Given the description of an element on the screen output the (x, y) to click on. 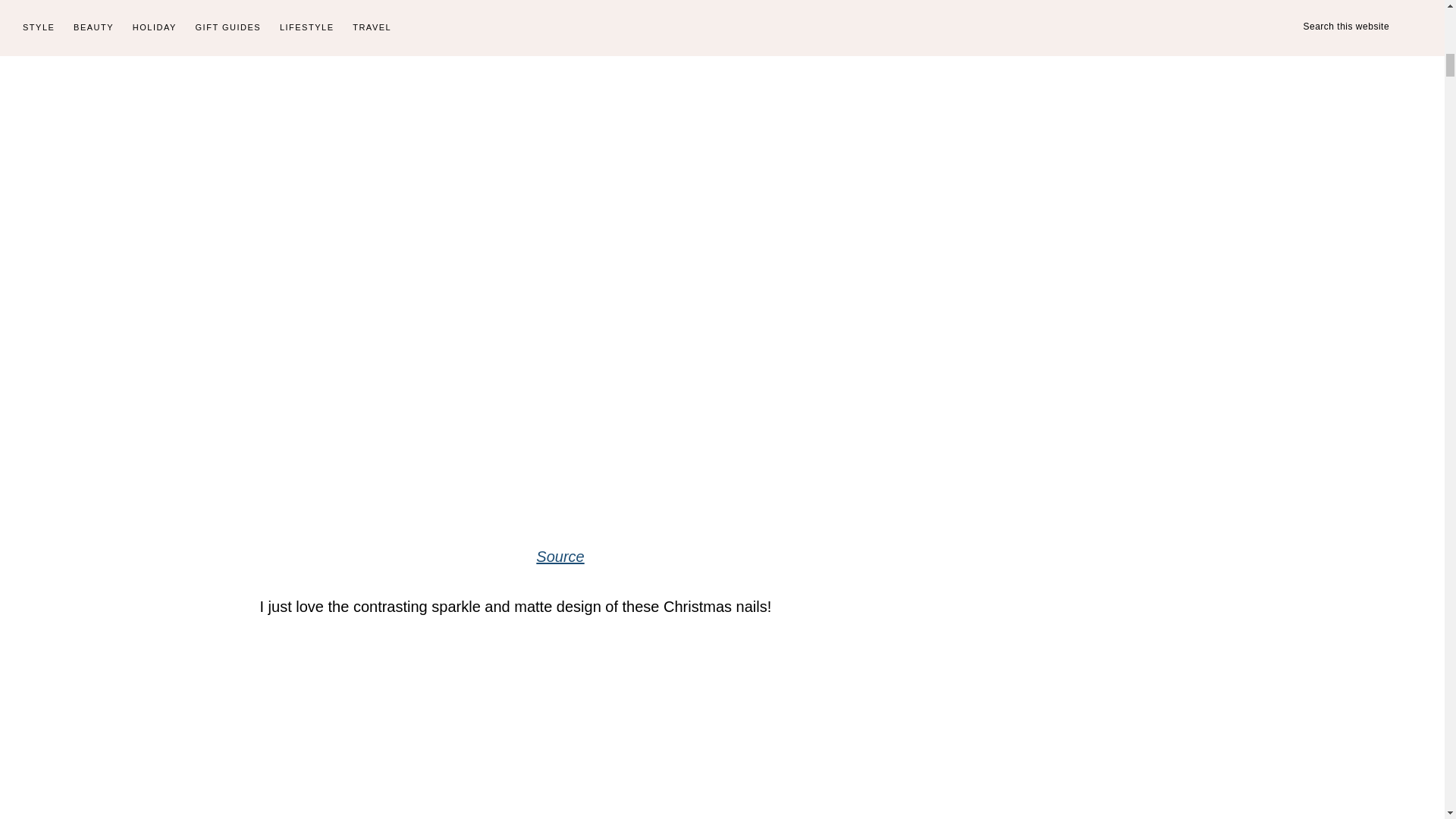
Source (559, 556)
